Given the description of an element on the screen output the (x, y) to click on. 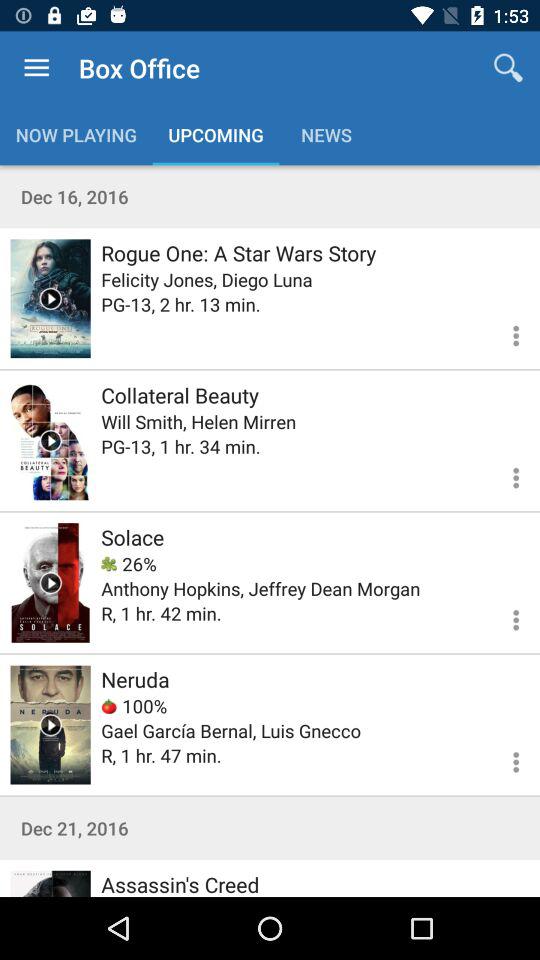
play video (50, 883)
